Given the description of an element on the screen output the (x, y) to click on. 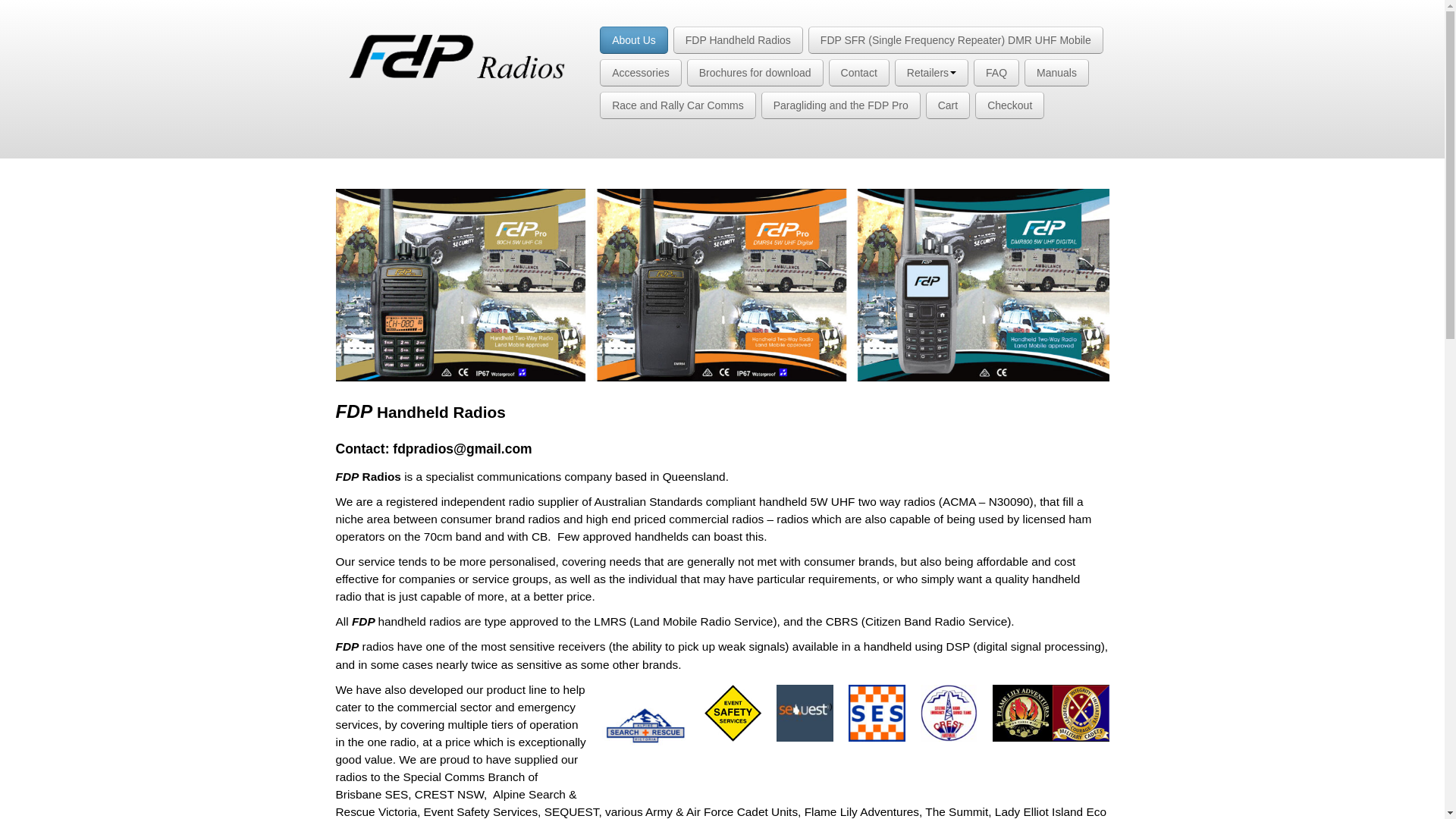
Paragliding and the FDP Pro Element type: text (840, 105)
Contact Element type: text (858, 72)
FDP Handheld Radios Element type: text (738, 39)
FDP SFR (Single Frequency Repeater) DMR UHF Mobile Element type: text (955, 39)
Retailers Element type: text (931, 72)
Race and Rally Car Comms Element type: text (677, 105)
FDP Radios Element type: hover (457, 53)
About Us Element type: text (633, 39)
Checkout Element type: text (1009, 105)
FAQ Element type: text (996, 72)
Accessories Element type: text (639, 72)
Manuals Element type: text (1056, 72)
Brochures for download Element type: text (755, 72)
Cart Element type: text (947, 105)
